Given the description of an element on the screen output the (x, y) to click on. 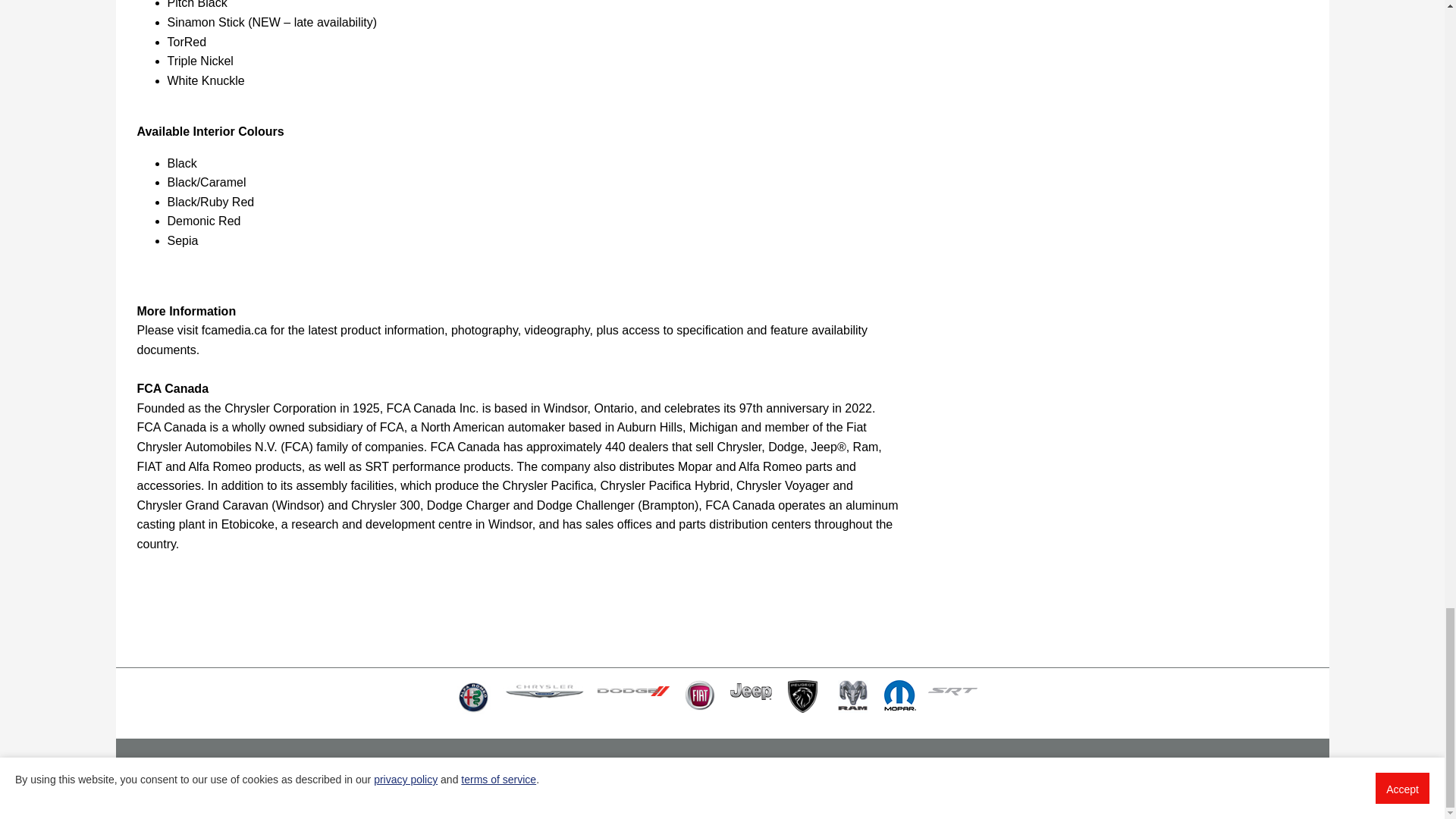
SRT (952, 691)
Mopar (899, 695)
Chrysler (544, 691)
Dodge (632, 691)
Peugeot (803, 696)
Fiat (699, 695)
Jeep (750, 691)
Alfa Romeo (472, 697)
Ram (853, 696)
